Given the description of an element on the screen output the (x, y) to click on. 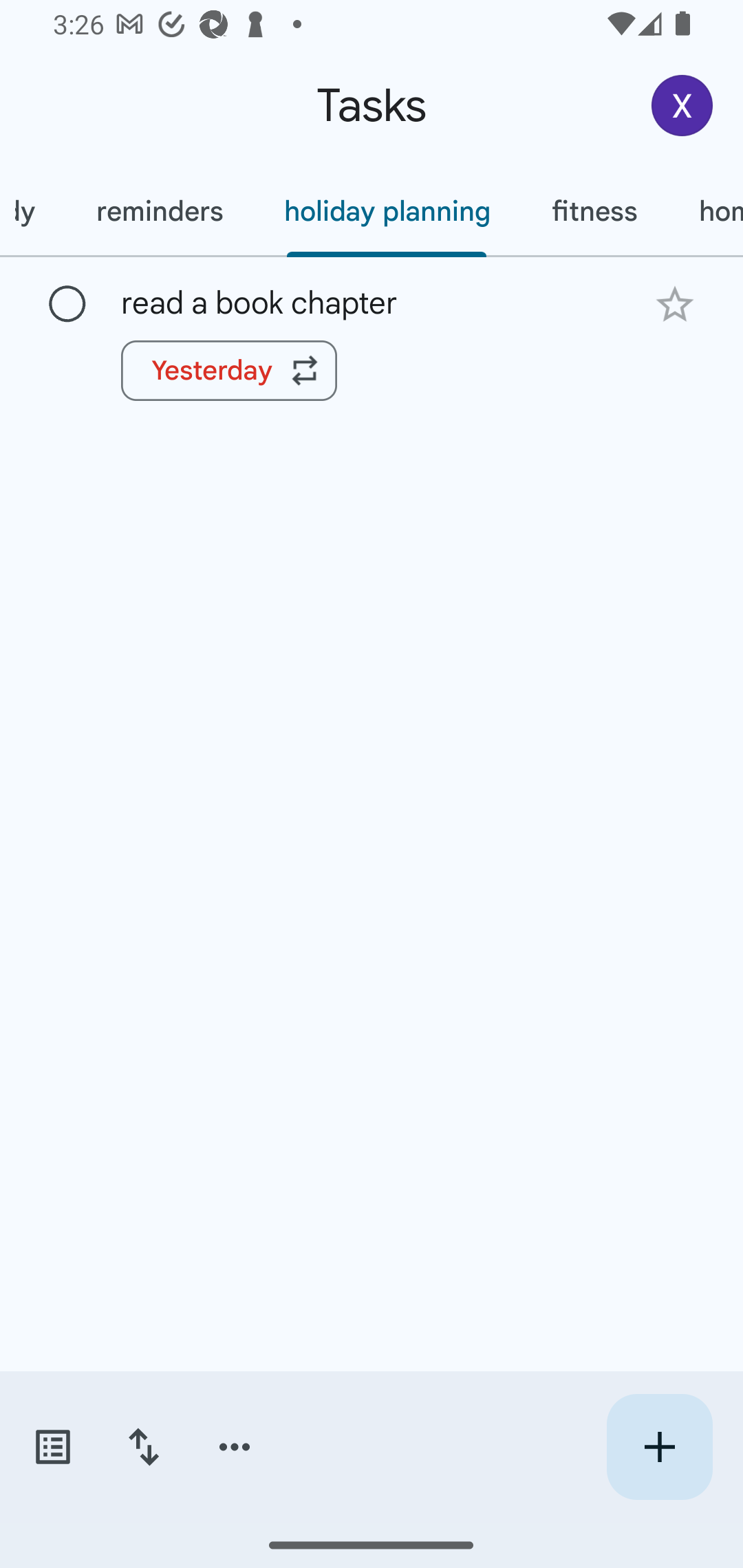
reminders (159, 211)
fitness (593, 211)
Add star (674, 303)
Mark as complete (67, 304)
Yesterday (229, 369)
Switch task lists (52, 1447)
Create new task (659, 1446)
Change sort order (143, 1446)
More options (234, 1446)
